Given the description of an element on the screen output the (x, y) to click on. 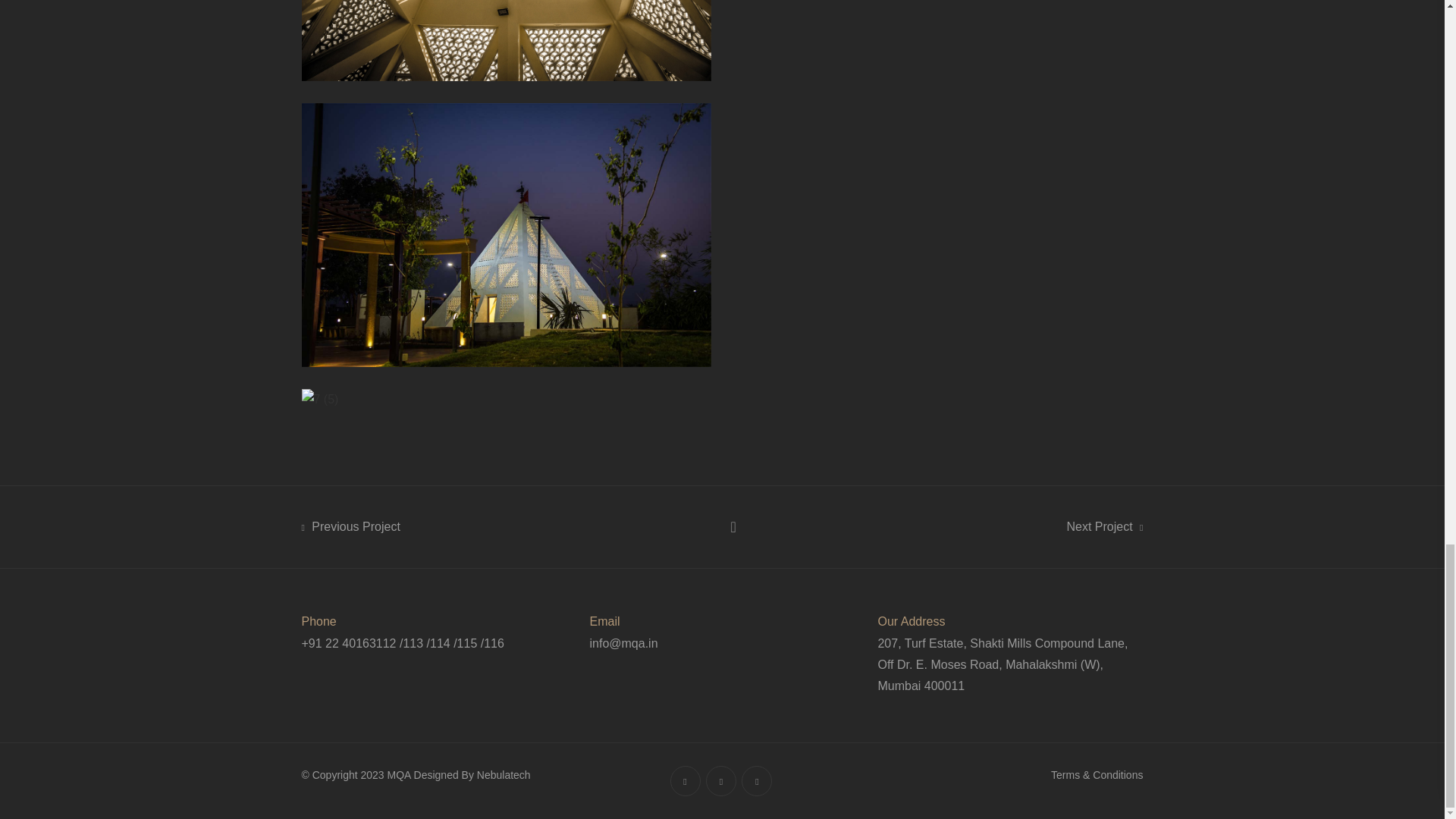
Next Project (1104, 526)
Nebulatech (504, 774)
Previous Project (350, 526)
